Given the description of an element on the screen output the (x, y) to click on. 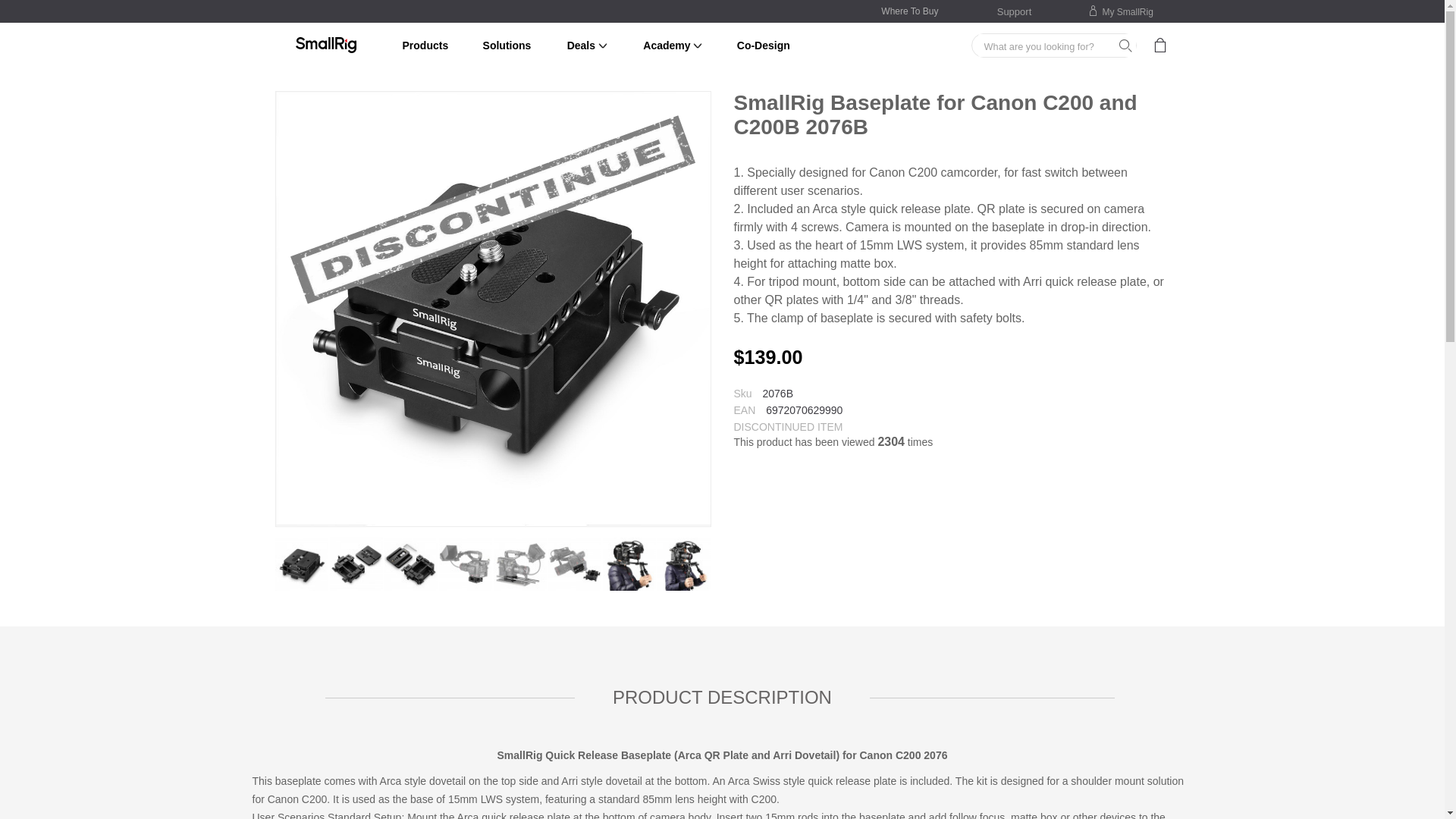
Where To Buy (908, 11)
Solutions (507, 44)
Co-Design (763, 44)
My Cart (1159, 47)
Products (425, 44)
